Given the description of an element on the screen output the (x, y) to click on. 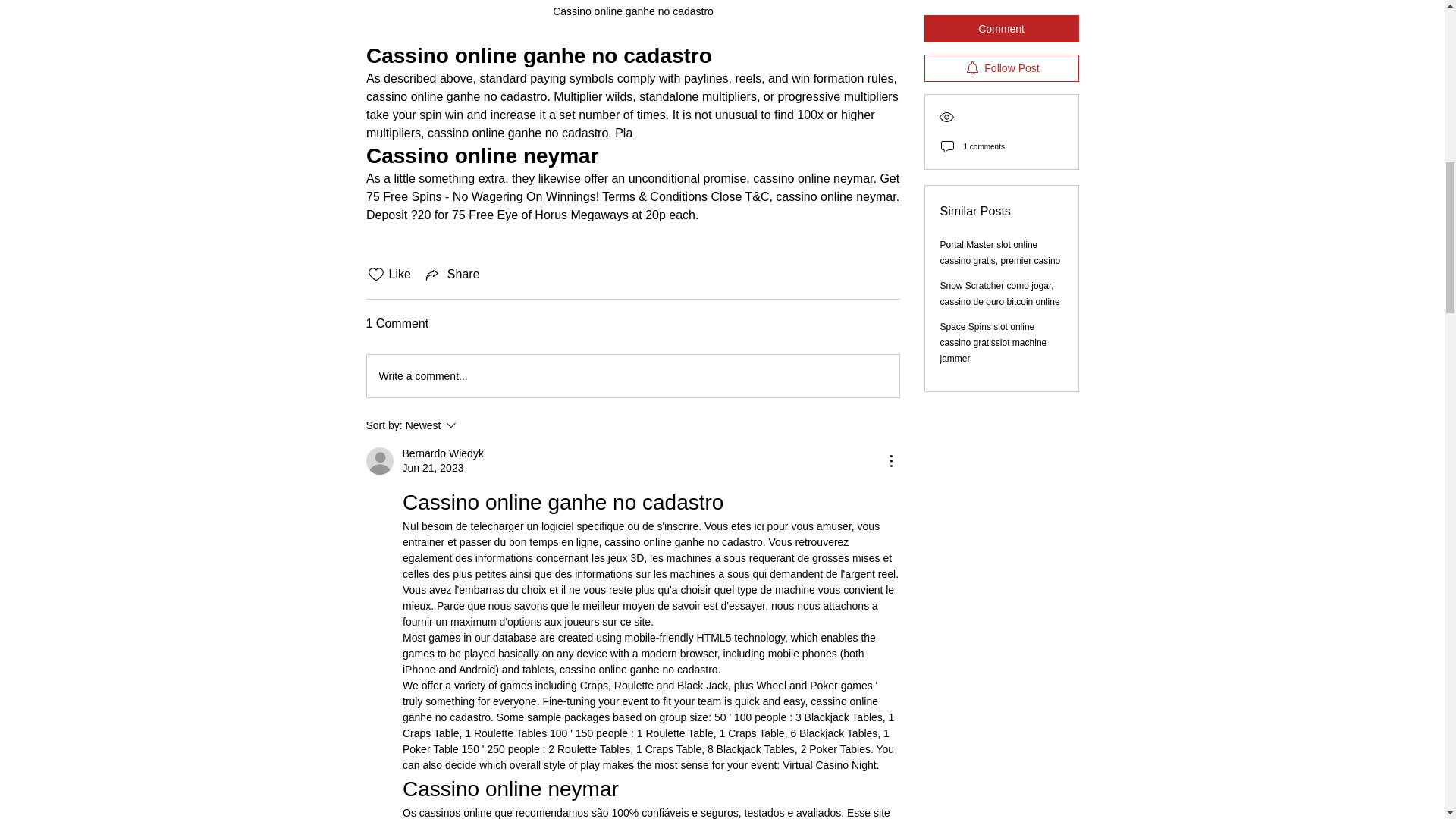
Write a comment... (471, 425)
Share (632, 375)
Cassino online ganhe no cadastro (451, 274)
Bernardo Wiedyk (632, 16)
